Given the description of an element on the screen output the (x, y) to click on. 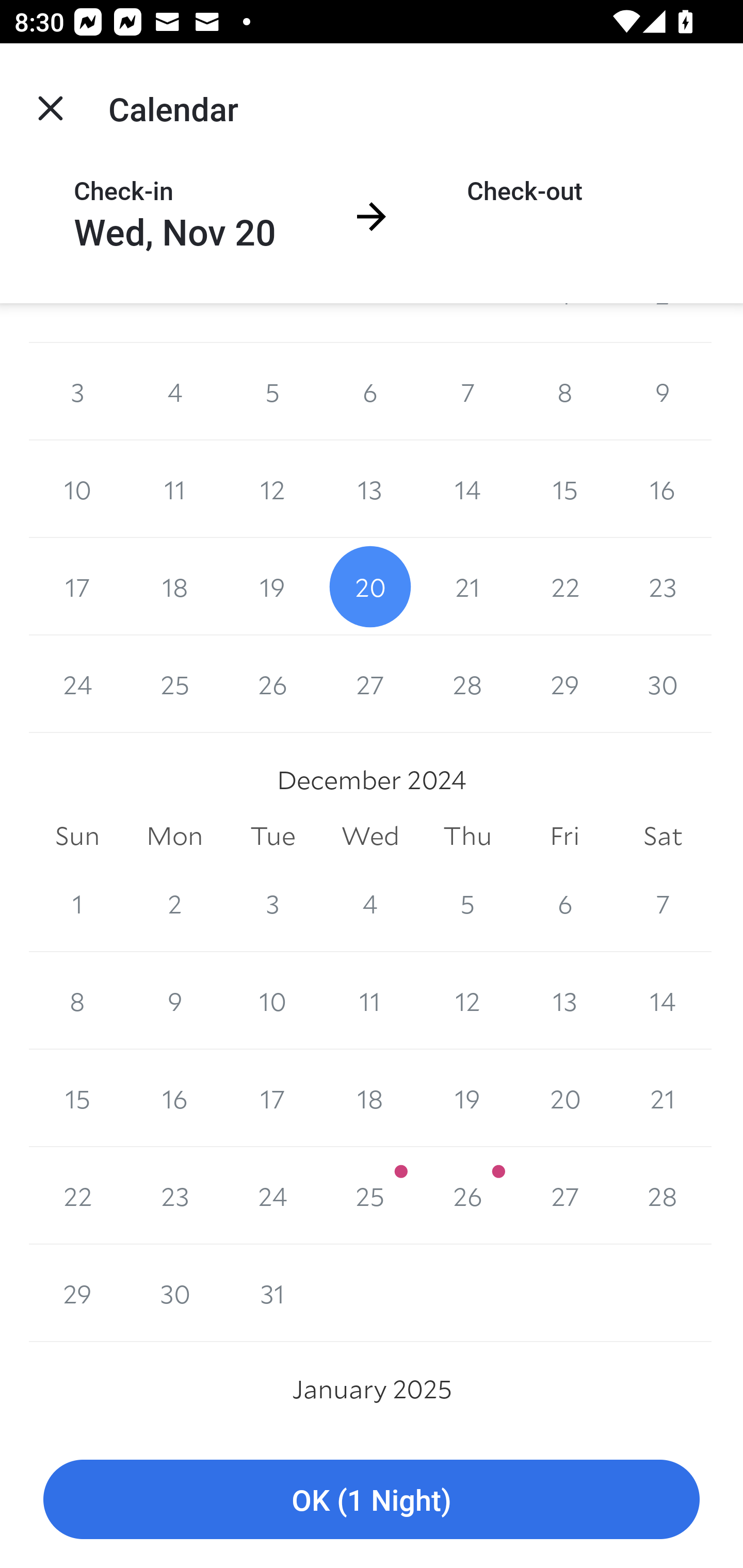
3 3 November 2024 (77, 391)
4 4 November 2024 (174, 391)
5 5 November 2024 (272, 391)
6 6 November 2024 (370, 391)
7 7 November 2024 (467, 391)
8 8 November 2024 (564, 391)
9 9 November 2024 (662, 391)
10 10 November 2024 (77, 488)
11 11 November 2024 (174, 488)
12 12 November 2024 (272, 488)
13 13 November 2024 (370, 488)
14 14 November 2024 (467, 488)
15 15 November 2024 (564, 488)
16 16 November 2024 (662, 488)
17 17 November 2024 (77, 586)
18 18 November 2024 (174, 586)
19 19 November 2024 (272, 586)
20 20 November 2024 (370, 586)
21 21 November 2024 (467, 586)
22 22 November 2024 (564, 586)
23 23 November 2024 (662, 586)
24 24 November 2024 (77, 683)
25 25 November 2024 (174, 683)
26 26 November 2024 (272, 683)
27 27 November 2024 (370, 683)
28 28 November 2024 (467, 683)
29 29 November 2024 (564, 683)
30 30 November 2024 (662, 683)
Sun (77, 835)
Mon (174, 835)
Tue (272, 835)
Wed (370, 835)
Thu (467, 835)
Fri (564, 835)
Sat (662, 835)
1 1 December 2024 (77, 902)
2 2 December 2024 (174, 902)
3 3 December 2024 (272, 902)
4 4 December 2024 (370, 902)
5 5 December 2024 (467, 902)
6 6 December 2024 (564, 902)
7 7 December 2024 (662, 902)
8 8 December 2024 (77, 999)
9 9 December 2024 (174, 999)
10 10 December 2024 (272, 999)
11 11 December 2024 (370, 999)
12 12 December 2024 (467, 999)
13 13 December 2024 (564, 999)
14 14 December 2024 (662, 999)
15 15 December 2024 (77, 1097)
16 16 December 2024 (174, 1097)
17 17 December 2024 (272, 1097)
18 18 December 2024 (370, 1097)
19 19 December 2024 (467, 1097)
20 20 December 2024 (564, 1097)
21 21 December 2024 (662, 1097)
22 22 December 2024 (77, 1195)
23 23 December 2024 (174, 1195)
24 24 December 2024 (272, 1195)
25 25 December 2024 (370, 1195)
26 26 December 2024 (467, 1195)
27 27 December 2024 (564, 1195)
28 28 December 2024 (662, 1195)
29 29 December 2024 (77, 1293)
30 30 December 2024 (174, 1293)
31 31 December 2024 (272, 1293)
OK (1 Night) (371, 1499)
